Given the description of an element on the screen output the (x, y) to click on. 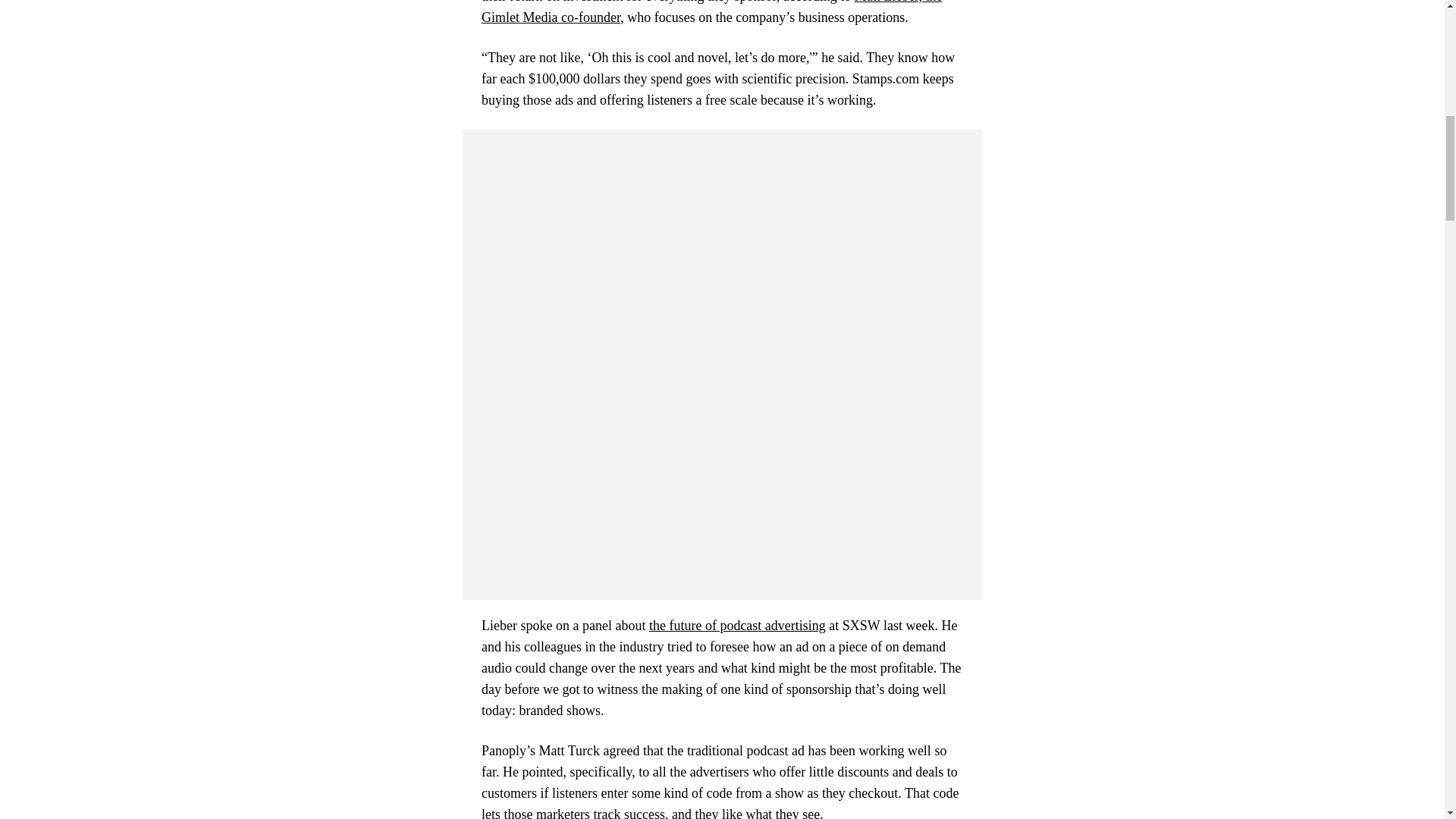
the future of podcast advertising (737, 625)
Matt Lieber, the Gimlet Media co-founder (711, 12)
